Given the description of an element on the screen output the (x, y) to click on. 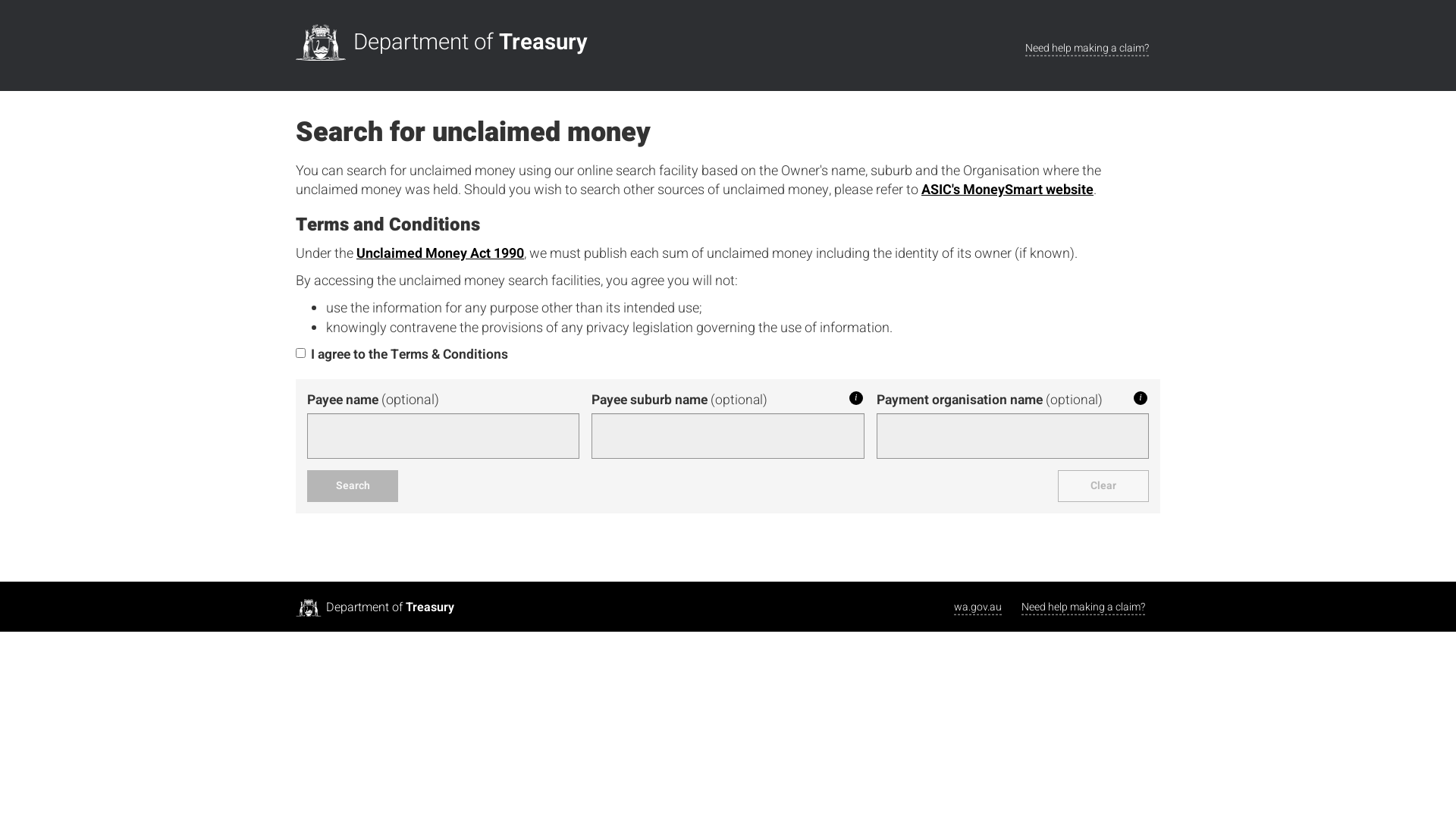
Need help making a claim? Element type: text (1086, 48)
Clear Element type: text (1102, 486)
Search Element type: text (352, 486)
ASIC's MoneySmart website Element type: text (1007, 189)
Help Element type: text (855, 397)
on Element type: text (300, 352)
Department of Treasury Element type: text (374, 607)
Department of Treasury Element type: text (445, 42)
Help Element type: text (1140, 397)
wa.gov.au Element type: text (977, 607)
Need help making a claim? Element type: text (1083, 607)
Unclaimed Money Act 1990 Element type: text (440, 253)
